Given the description of an element on the screen output the (x, y) to click on. 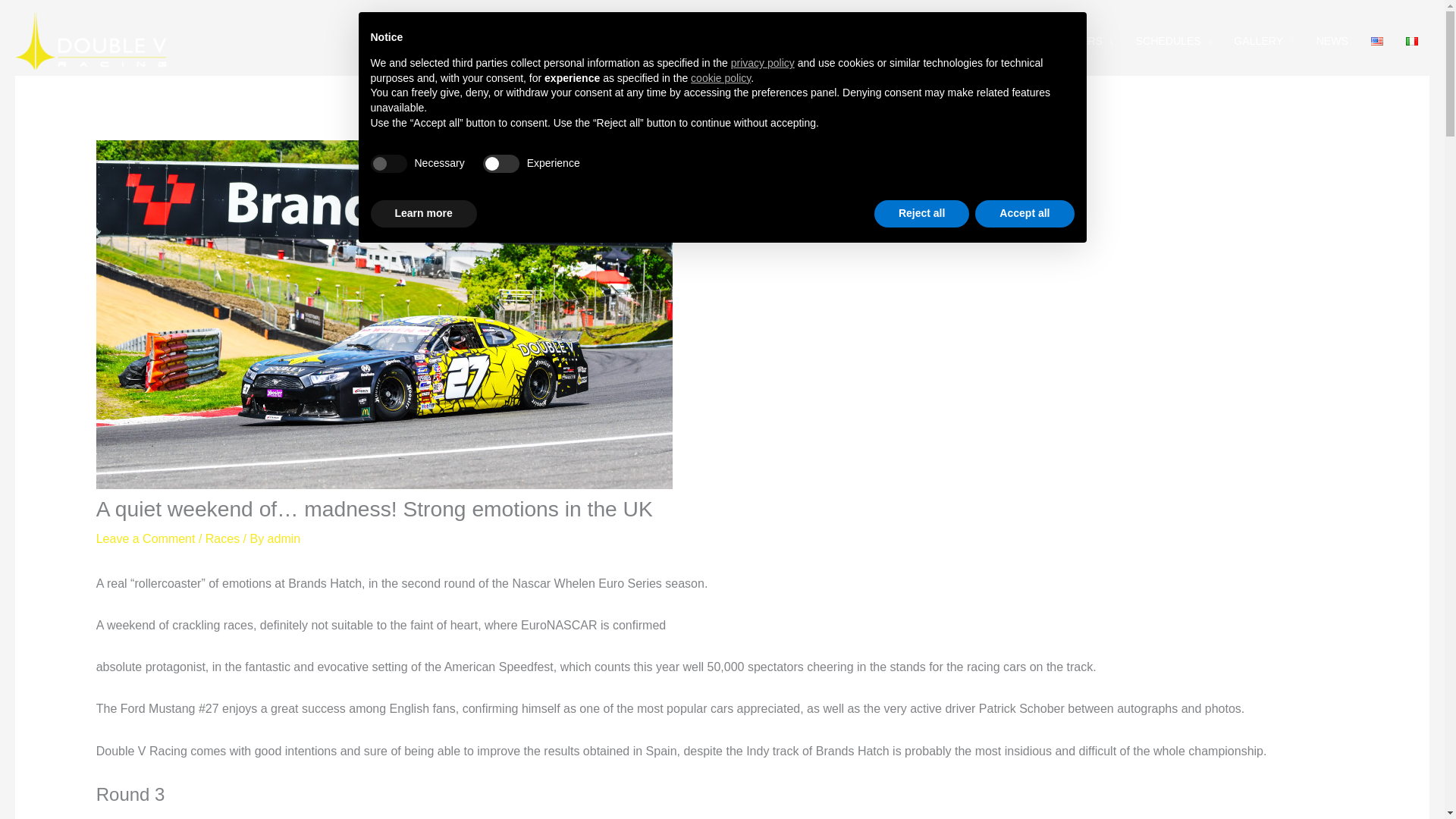
false (501, 163)
ABOUT (939, 40)
THE CAR (1008, 40)
HOME (876, 40)
View all posts by admin (284, 538)
true (387, 163)
SCHEDULES (1173, 40)
DRIVERS (1083, 40)
GALLERY (1263, 40)
NEWS (1331, 40)
